Given the description of an element on the screen output the (x, y) to click on. 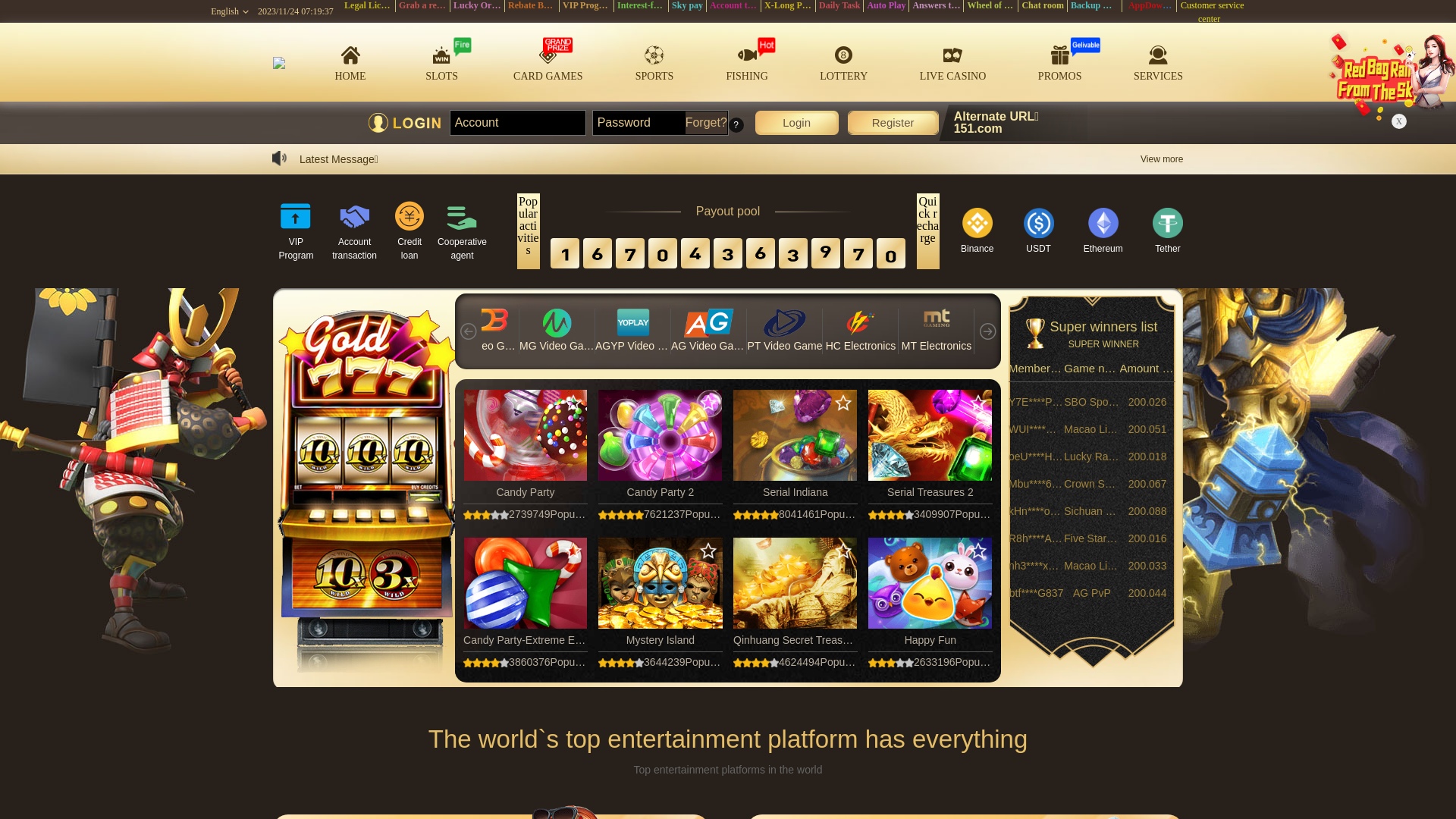
View more Element type: text (1161, 159)
HOME Element type: text (350, 62)
SERVICES Element type: text (1158, 60)
LOTTERY Element type: text (843, 62)
SLOTS Element type: text (441, 62)
Customer service center Element type: text (1210, 12)
FISHING Element type: text (747, 62)
AppDownload Element type: text (1156, 5)
CARD GAMES Element type: text (547, 62)
SPORTS Element type: text (654, 62)
LIVE CASINO Element type: text (952, 62)
PROMOS Element type: text (1060, 62)
